Given the description of an element on the screen output the (x, y) to click on. 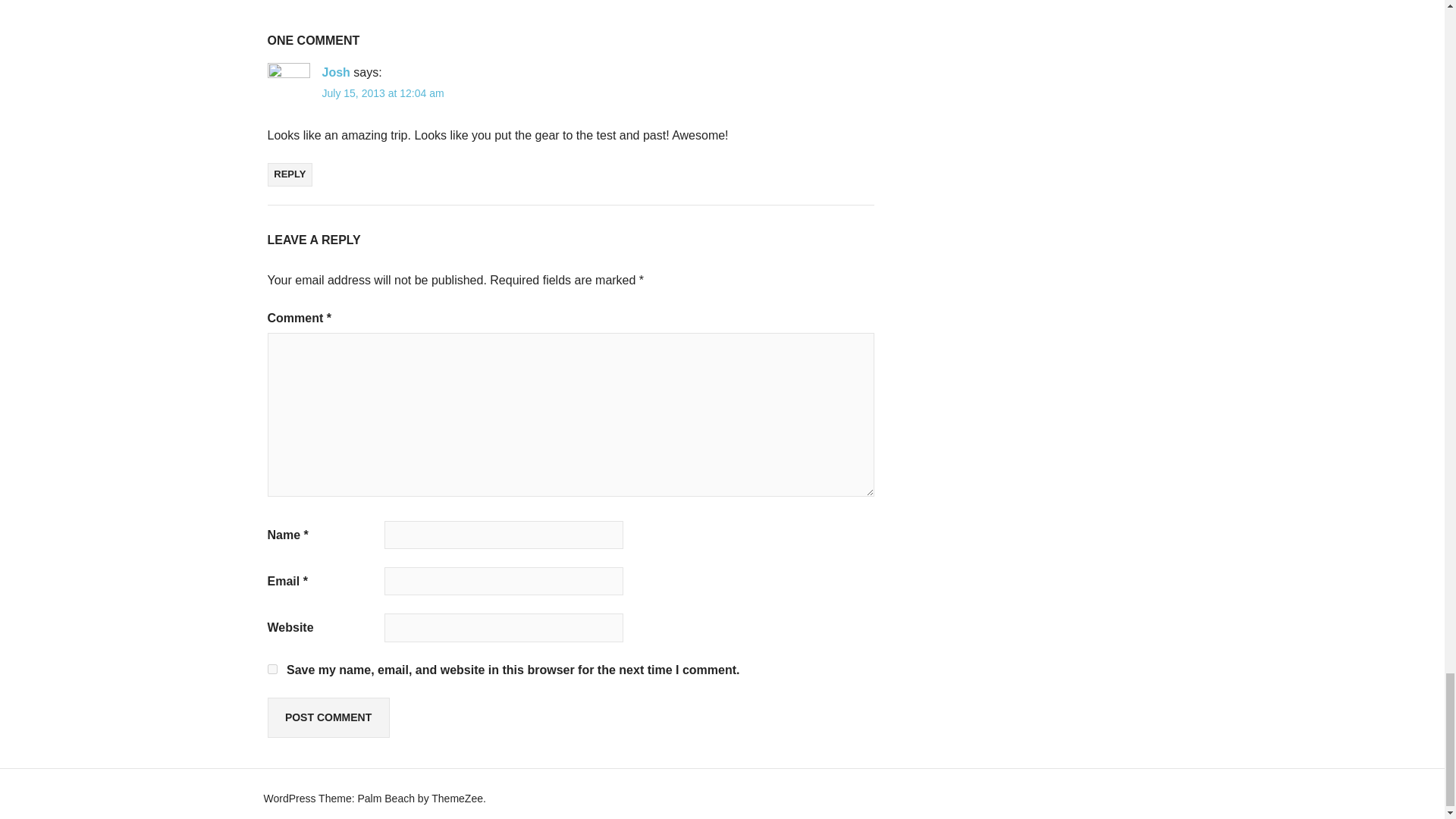
yes (271, 669)
Post Comment (327, 717)
